Given the description of an element on the screen output the (x, y) to click on. 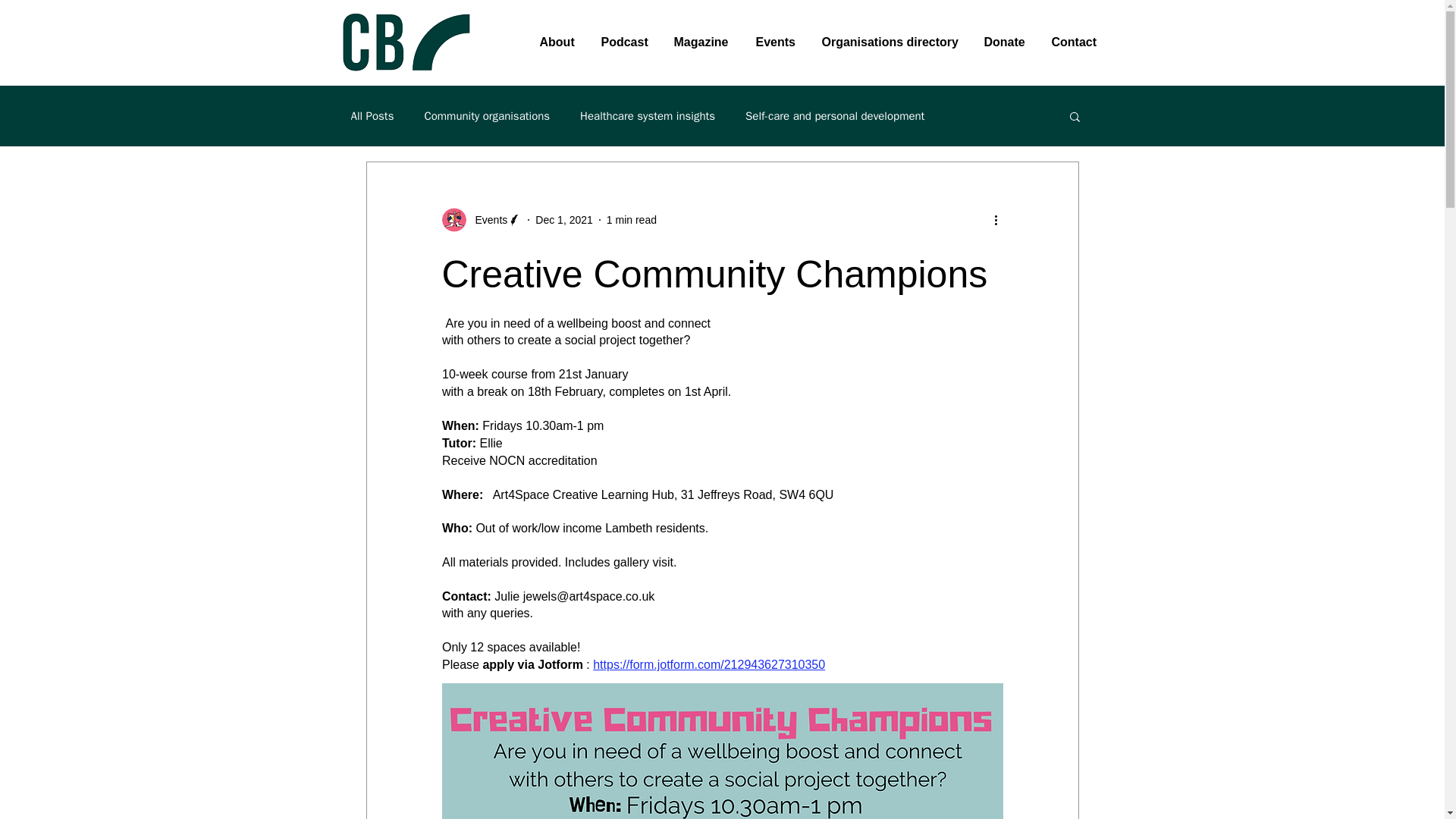
Events (485, 220)
Self-care and personal development (834, 115)
Healthcare system insights (646, 115)
Magazine (703, 42)
Community organisations (486, 115)
All Posts (371, 115)
Donate (1005, 42)
Podcast (625, 42)
Dec 1, 2021 (563, 219)
1 min read (631, 219)
Contact (1075, 42)
About (557, 42)
Events (776, 42)
Organisations directory (890, 42)
